Given the description of an element on the screen output the (x, y) to click on. 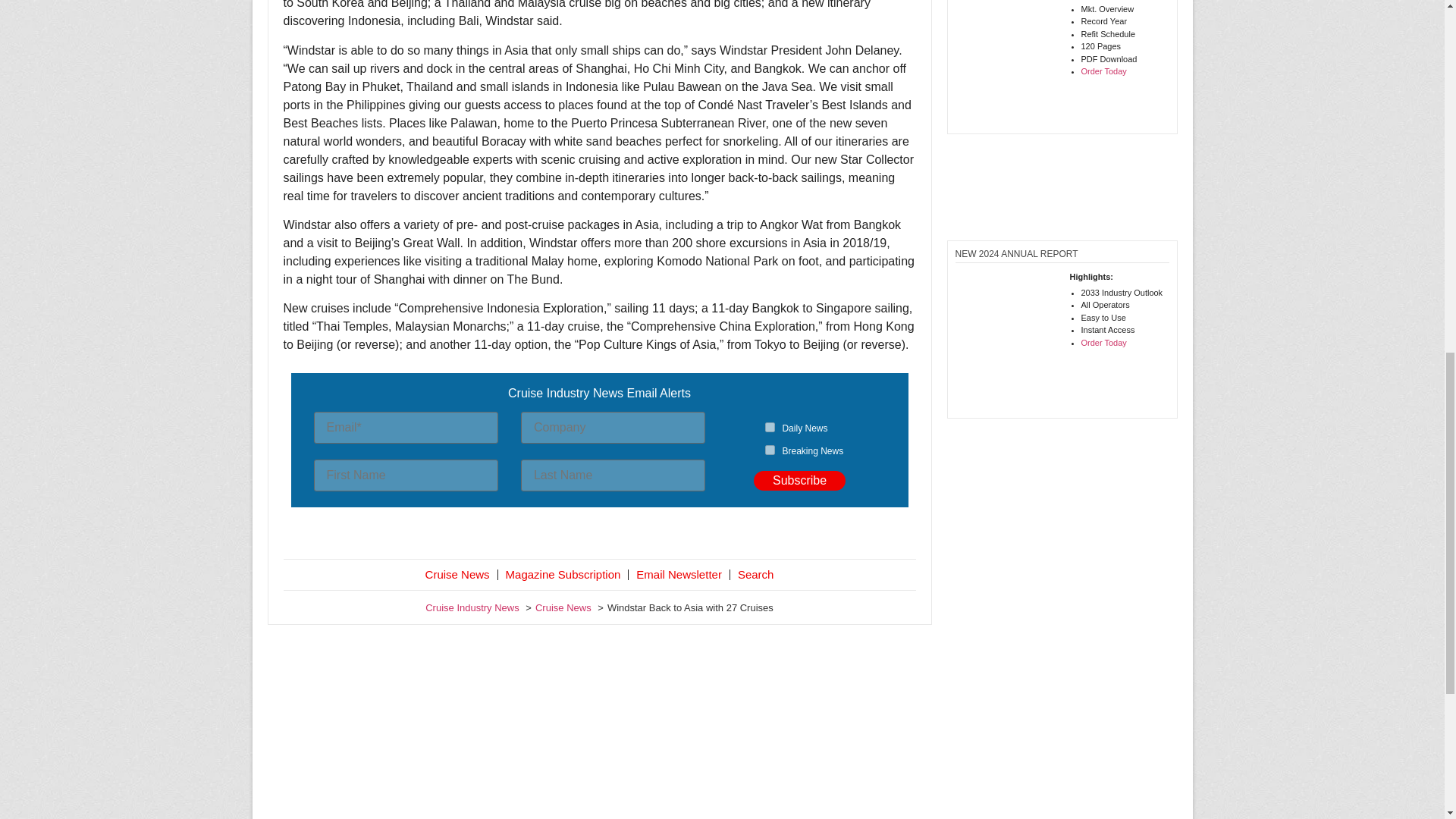
2 (769, 450)
1 (769, 427)
Subscribe (799, 480)
